Given the description of an element on the screen output the (x, y) to click on. 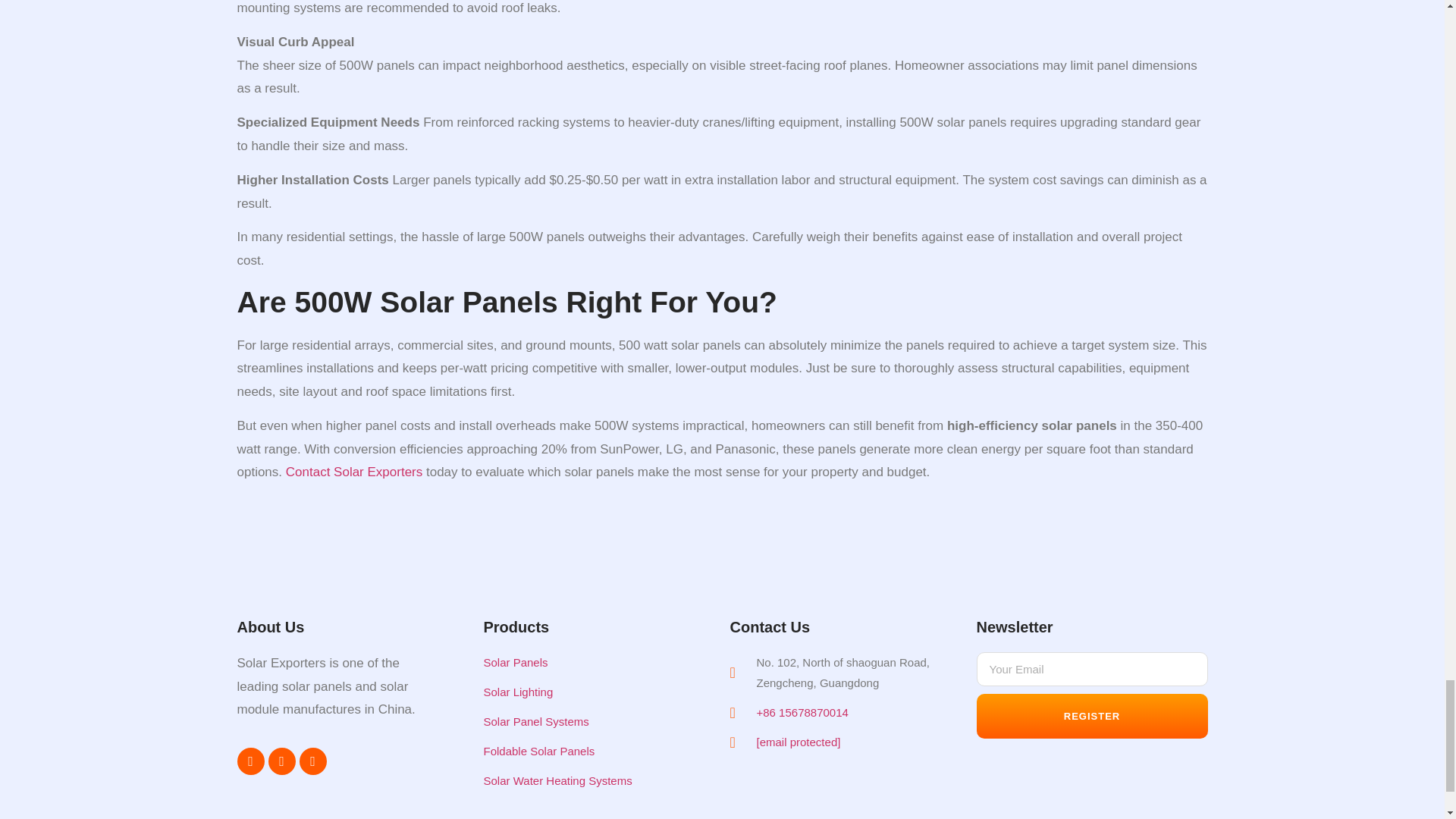
Contact (307, 472)
Solar Panels (583, 661)
Solar Exporters (377, 472)
Contact (307, 472)
